Given the description of an element on the screen output the (x, y) to click on. 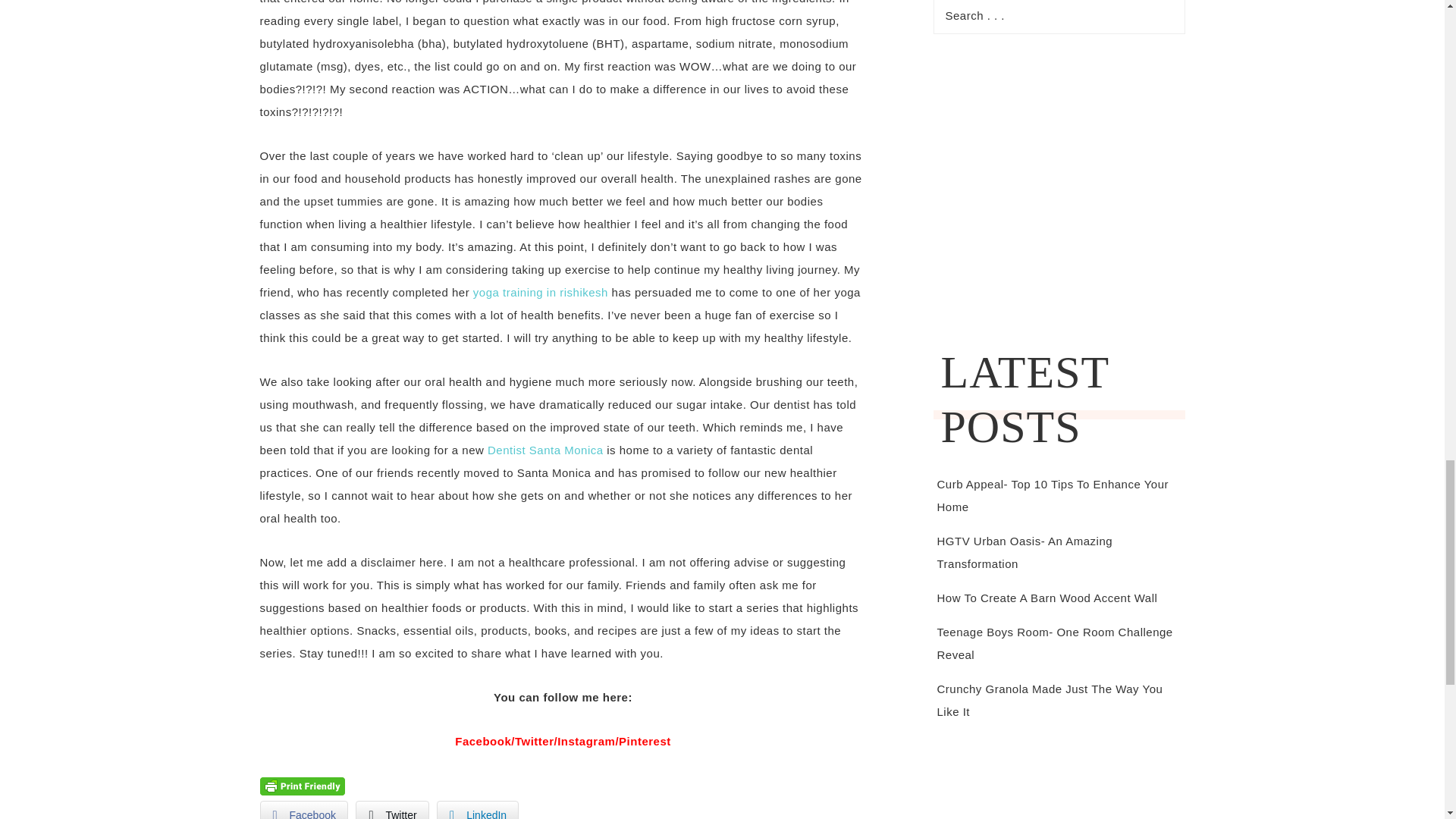
Pinterest (644, 740)
Facebook (482, 740)
Facebook (303, 809)
Twitter (391, 809)
LinkedIn (477, 809)
Dentist Santa Monica (545, 449)
yoga training in rishikesh (540, 291)
